Given the description of an element on the screen output the (x, y) to click on. 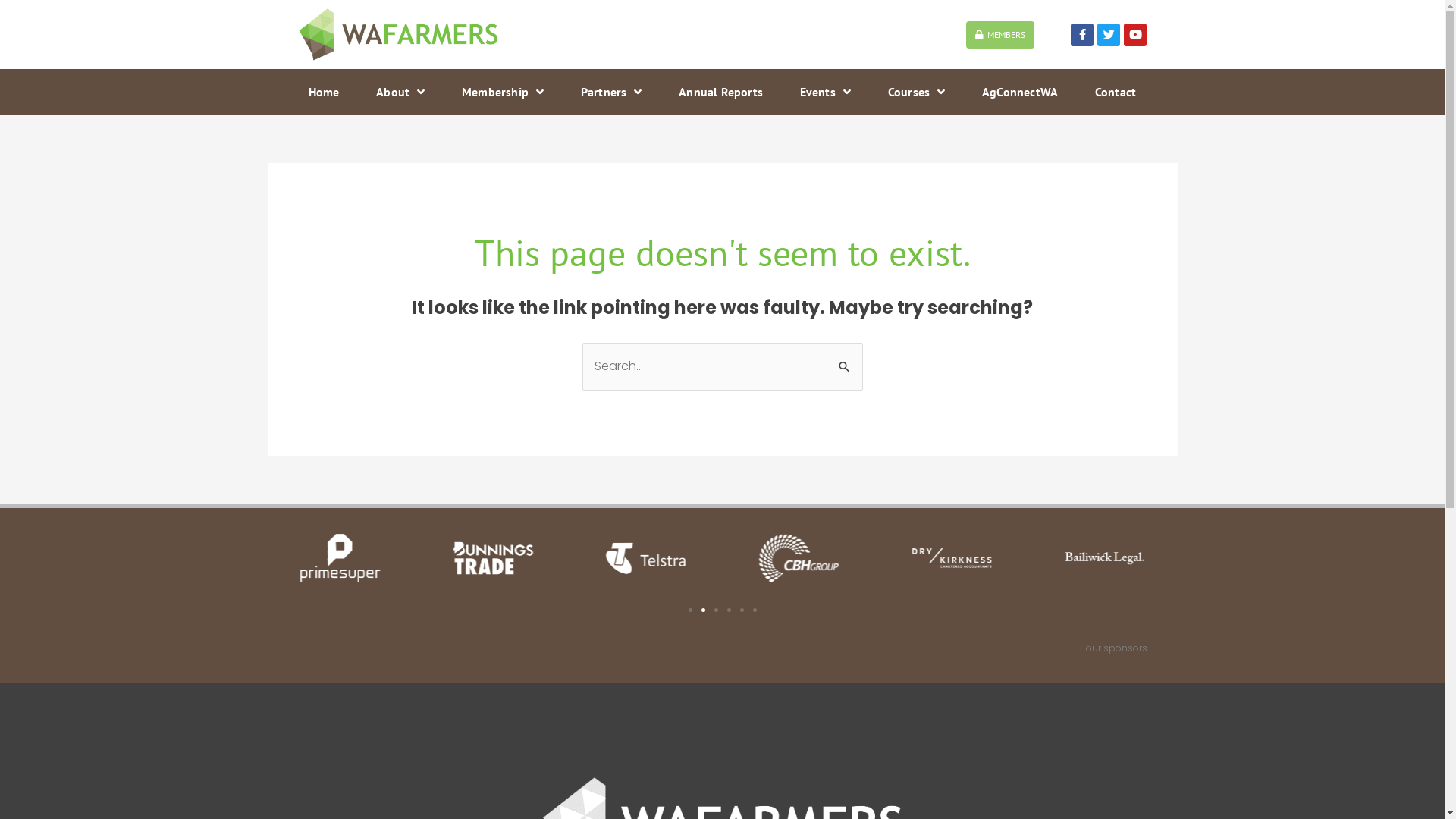
Facebook-f Element type: text (1081, 34)
Events Element type: text (825, 91)
our sponsors Element type: text (1116, 647)
Membership Element type: text (502, 91)
AgConnectWA Element type: text (1019, 91)
About Element type: text (400, 91)
Partners Element type: text (611, 91)
MEMBERS Element type: text (1000, 34)
Courses Element type: text (916, 91)
Annual Reports Element type: text (720, 91)
Youtube Element type: text (1134, 34)
Contact Element type: text (1115, 91)
Twitter Element type: text (1108, 34)
Home Element type: text (323, 91)
Search Element type: text (845, 363)
